Given the description of an element on the screen output the (x, y) to click on. 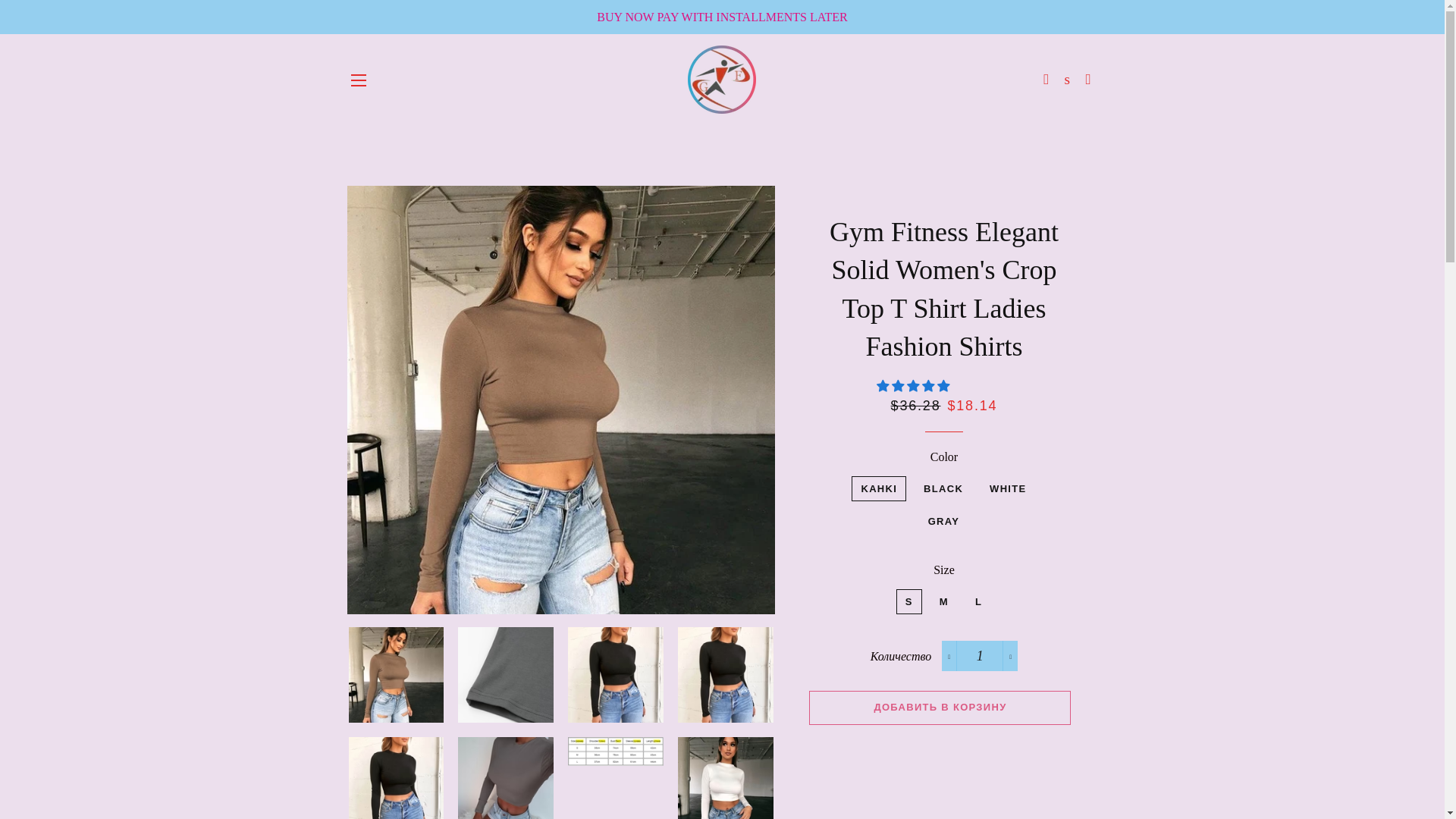
1 (979, 655)
